Given the description of an element on the screen output the (x, y) to click on. 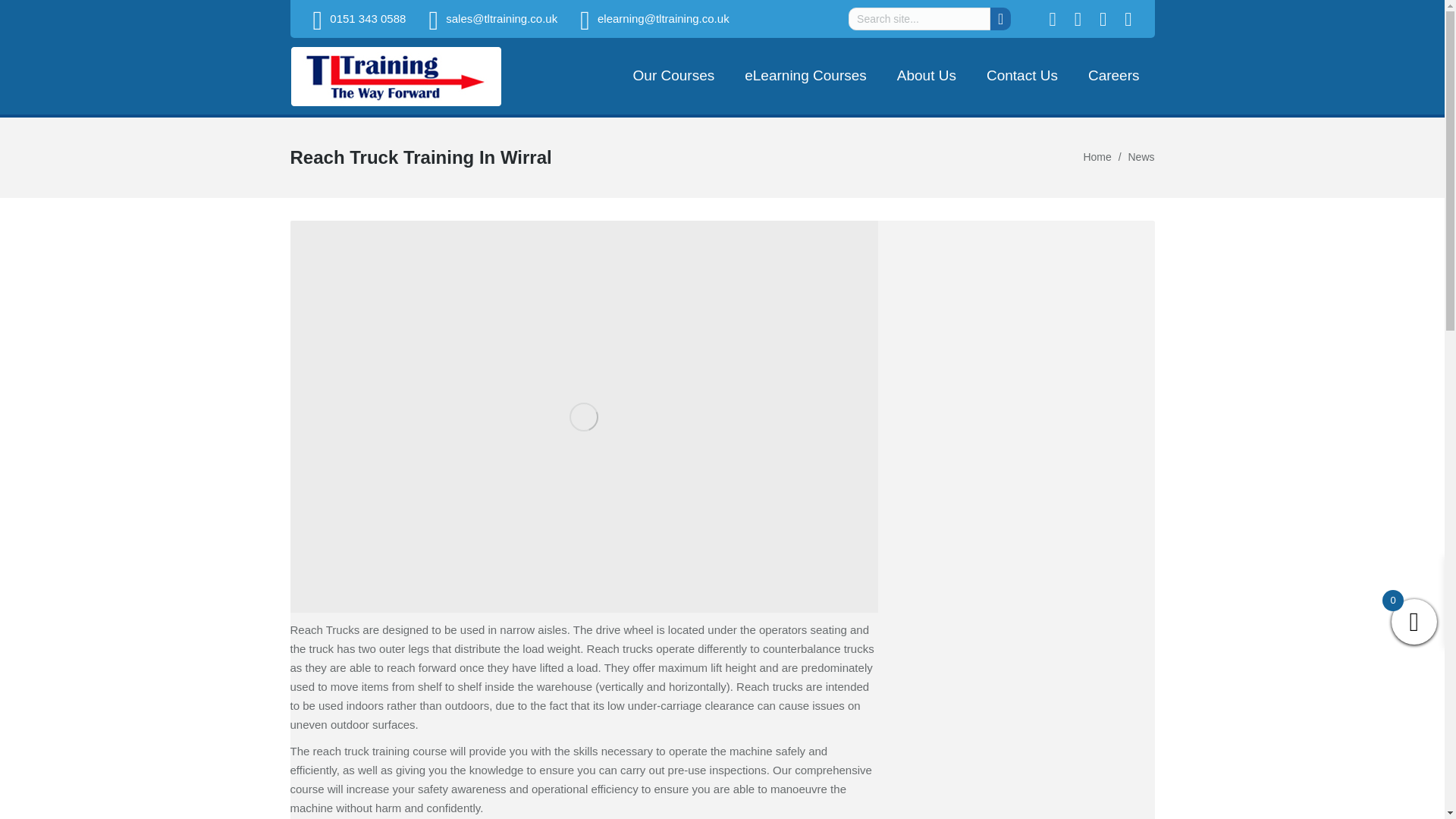
0151 343 0588 (368, 18)
eLearning Courses (805, 75)
Our Courses (673, 75)
